Given the description of an element on the screen output the (x, y) to click on. 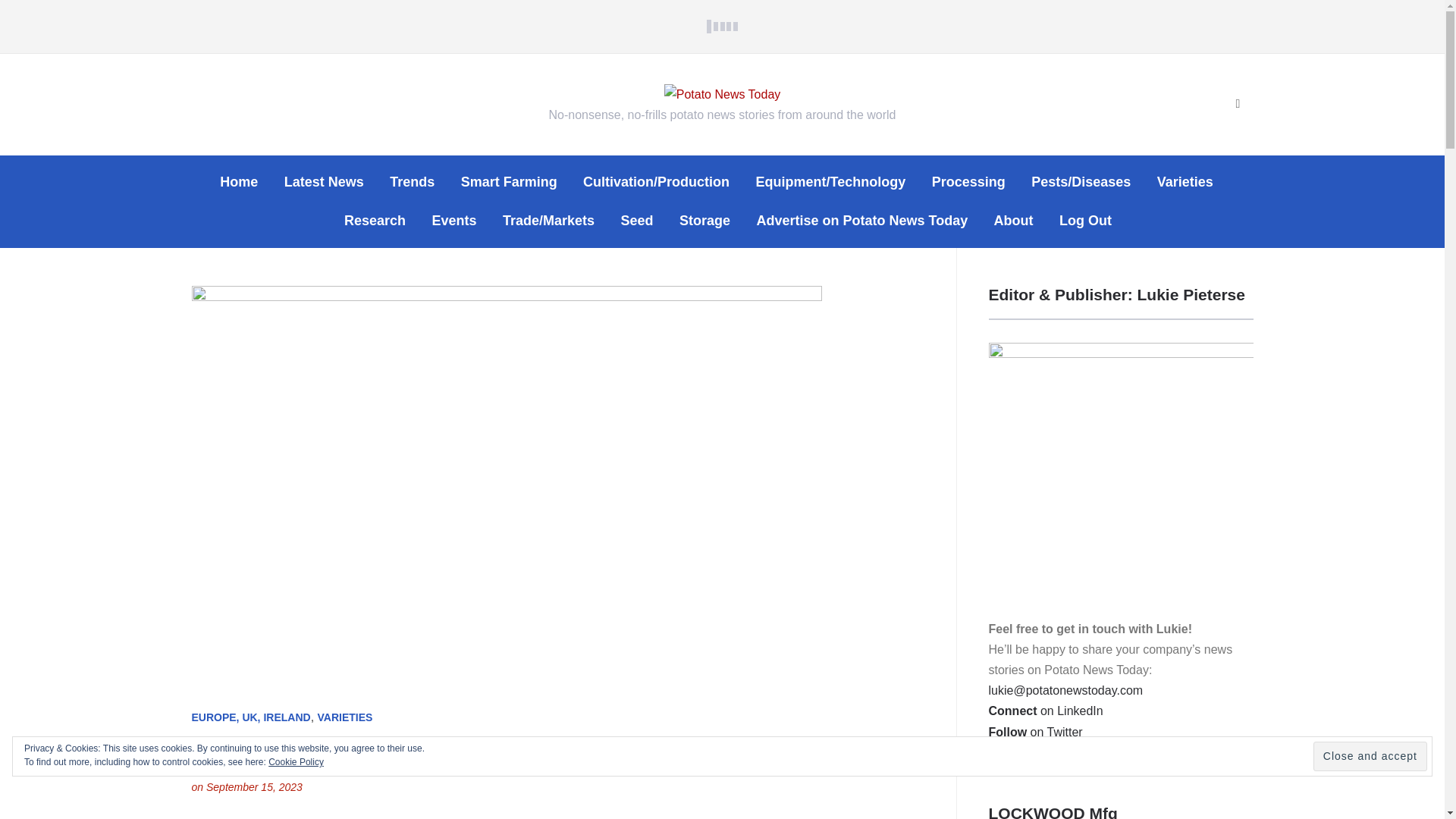
Trends (411, 181)
Search (1237, 104)
Home (238, 181)
Processing (968, 181)
Smart Farming (509, 181)
Latest News (323, 181)
Varieties (1184, 181)
Close and accept (1369, 756)
